Given the description of an element on the screen output the (x, y) to click on. 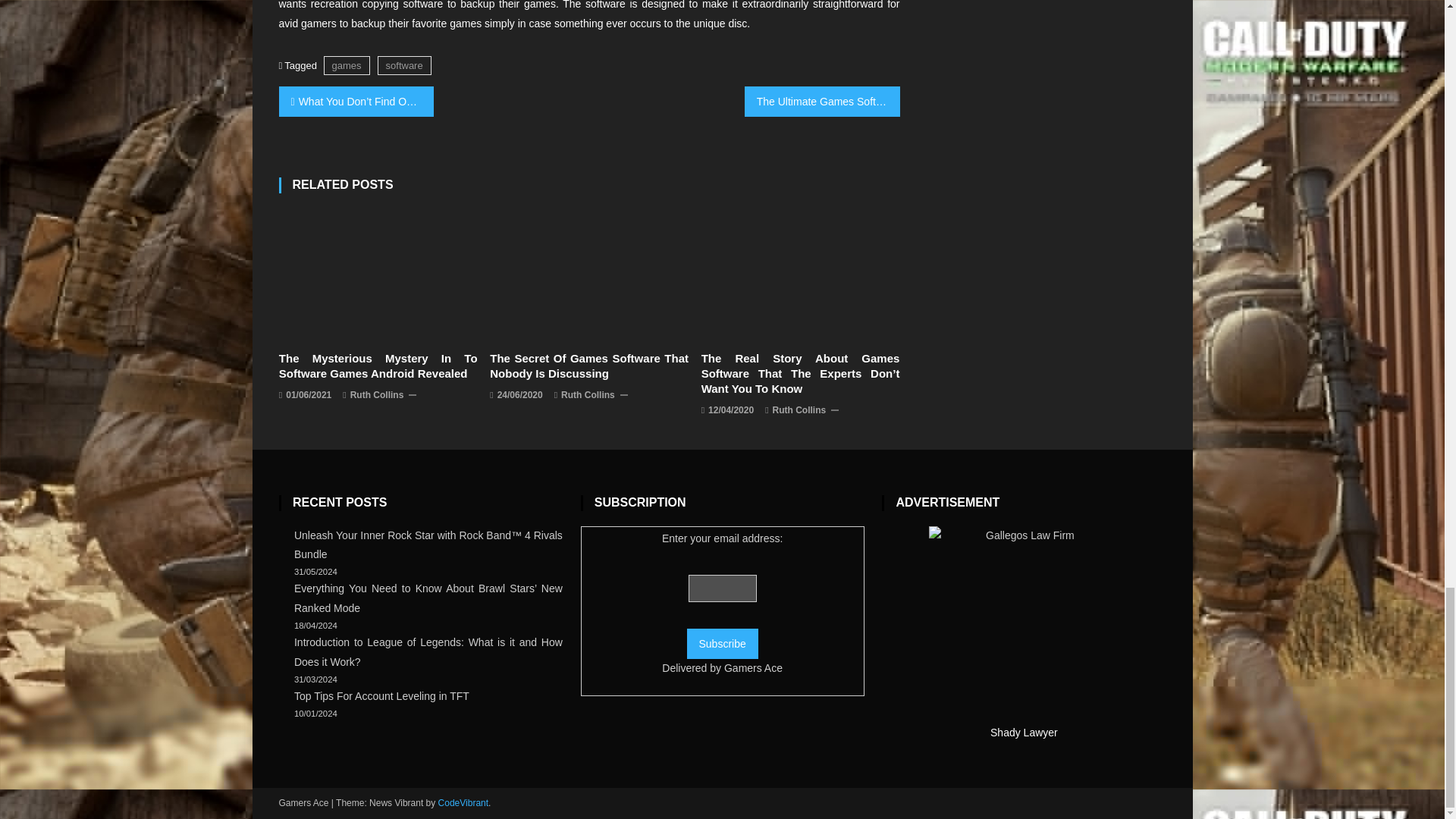
Ruth Collins (587, 395)
The Mysterious Mystery In to Software Games Android Revealed (378, 275)
The Ultimate Games Software Trick (821, 101)
Ruth Collins (377, 395)
The Secret Of Games Software That Nobody Is Discussing (588, 366)
games (346, 65)
Ruth Collins (800, 410)
The Mysterious Mystery In To Software Games Android Revealed (378, 366)
Subscribe (722, 643)
